Given the description of an element on the screen output the (x, y) to click on. 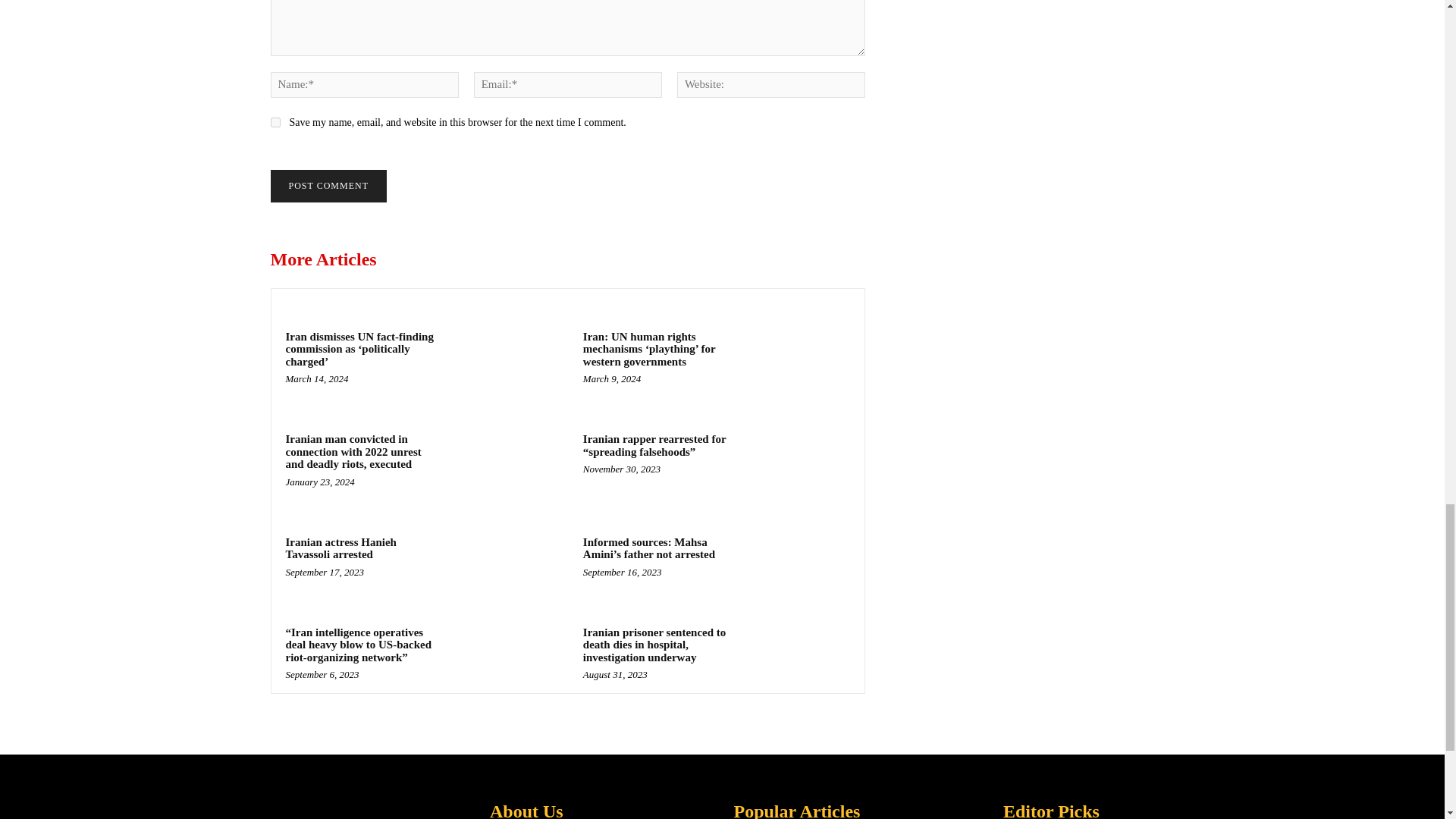
yes (274, 122)
Post Comment (327, 185)
